Given the description of an element on the screen output the (x, y) to click on. 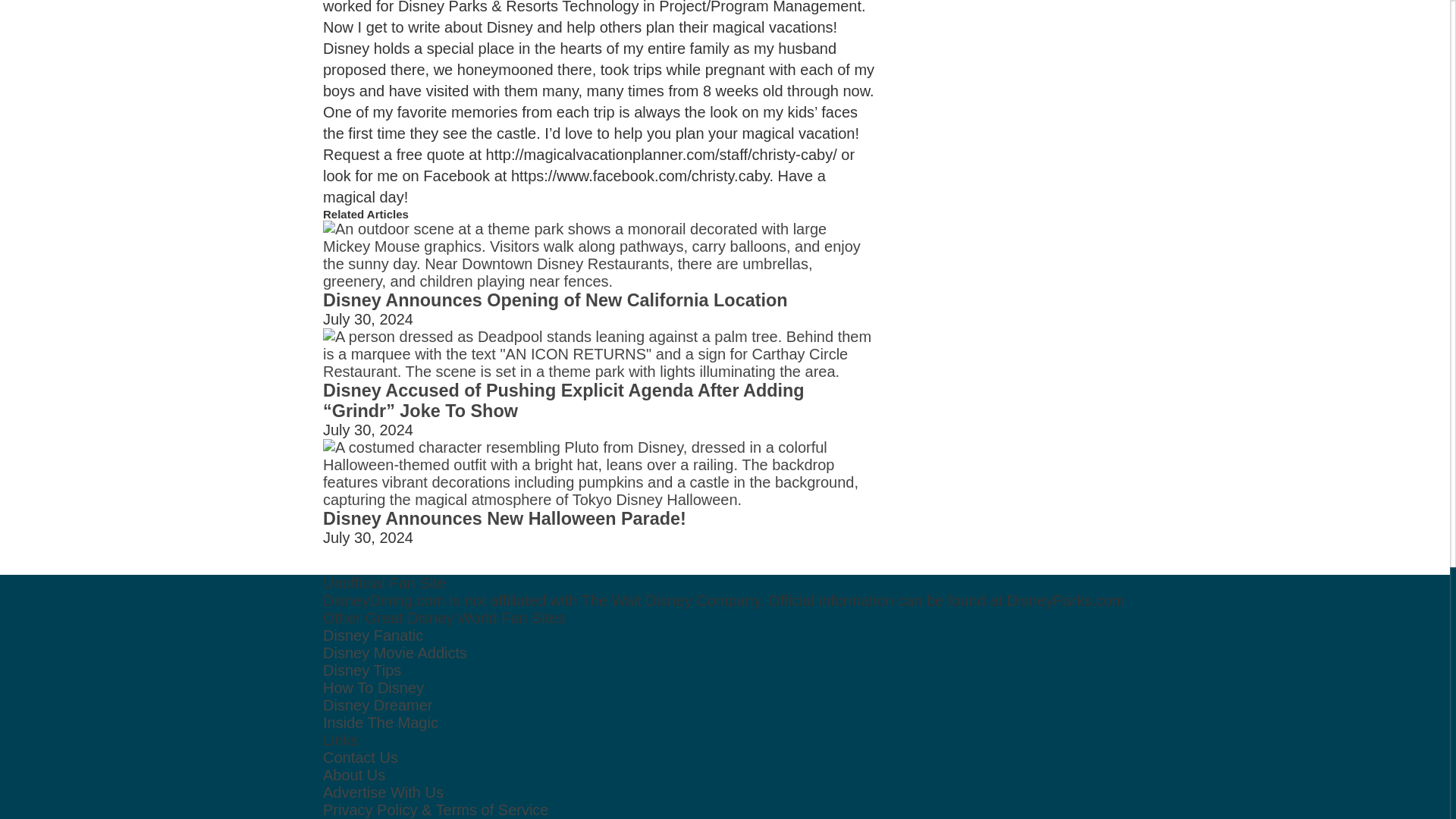
Disney Fanatic (373, 635)
Disney Movie Addicts (395, 652)
Disney Announces Opening of New California Location (555, 300)
Disney Announces New Halloween Parade! (504, 518)
